Given the description of an element on the screen output the (x, y) to click on. 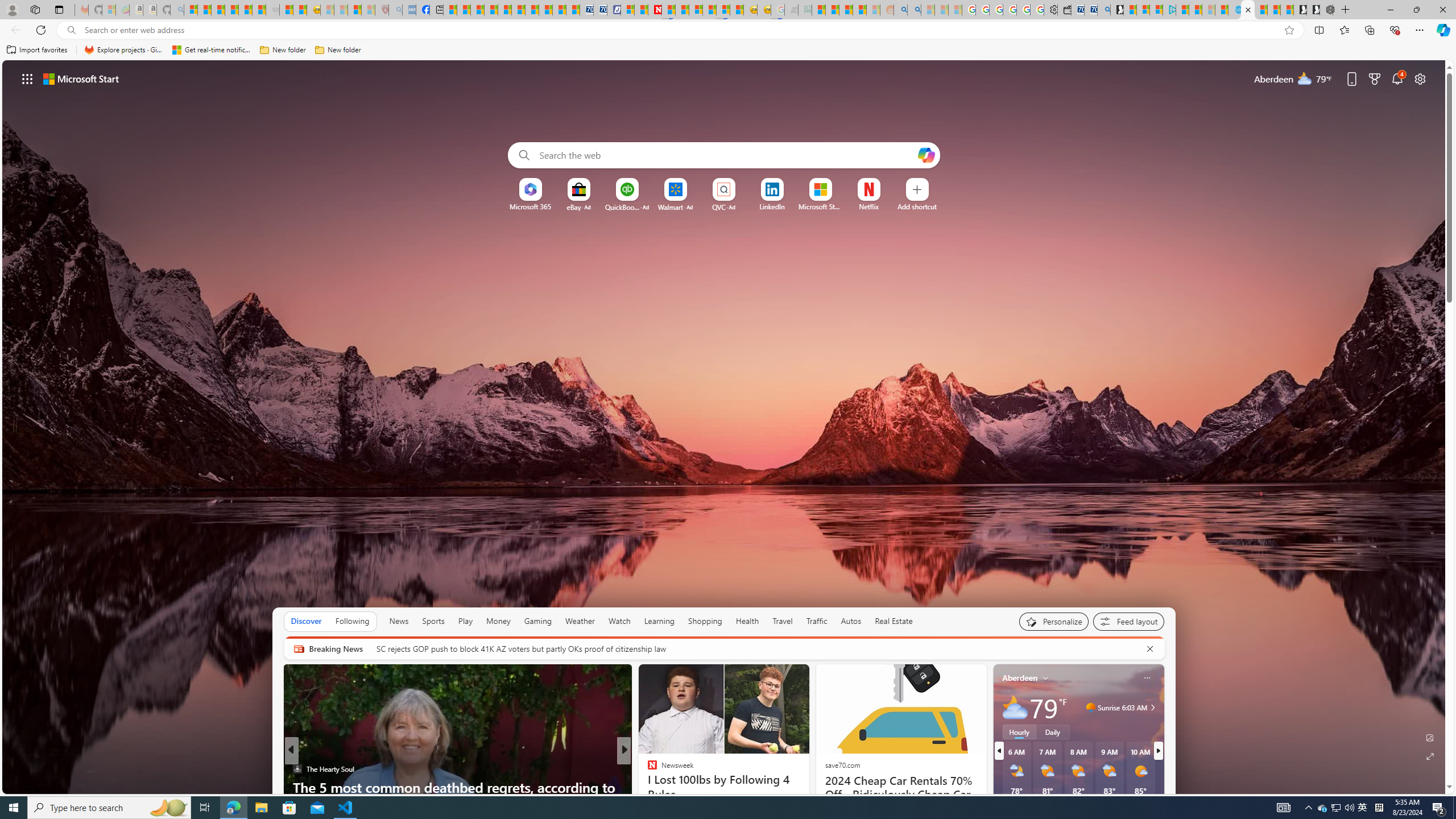
Bing Real Estate - Home sales and rental listings (1103, 9)
I Lost 50 Pounds in 8 Months with These 4 Simple Changes (807, 796)
16 Warning Signs That Shows a Person Has Unhealed Trauma (807, 796)
Autos (851, 621)
